Given the description of an element on the screen output the (x, y) to click on. 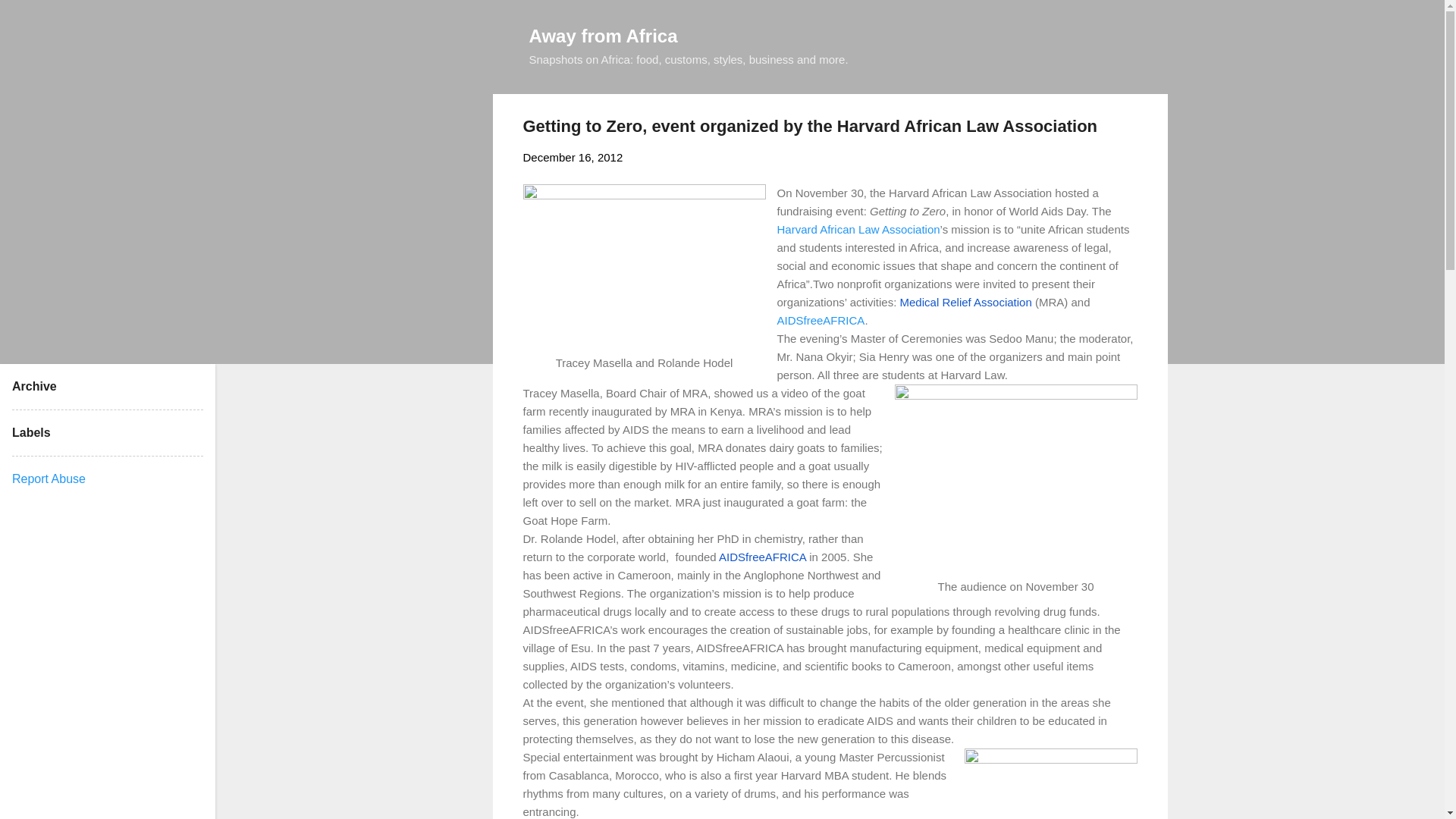
permanent link (572, 156)
December 16, 2012 (572, 156)
Away from Africa (603, 35)
AIDSfreeAFRICA (820, 319)
AIDSfreeAFRICA (762, 556)
Search (29, 18)
Harvard African Law Association (857, 228)
Medical Relief Association (965, 301)
